Given the description of an element on the screen output the (x, y) to click on. 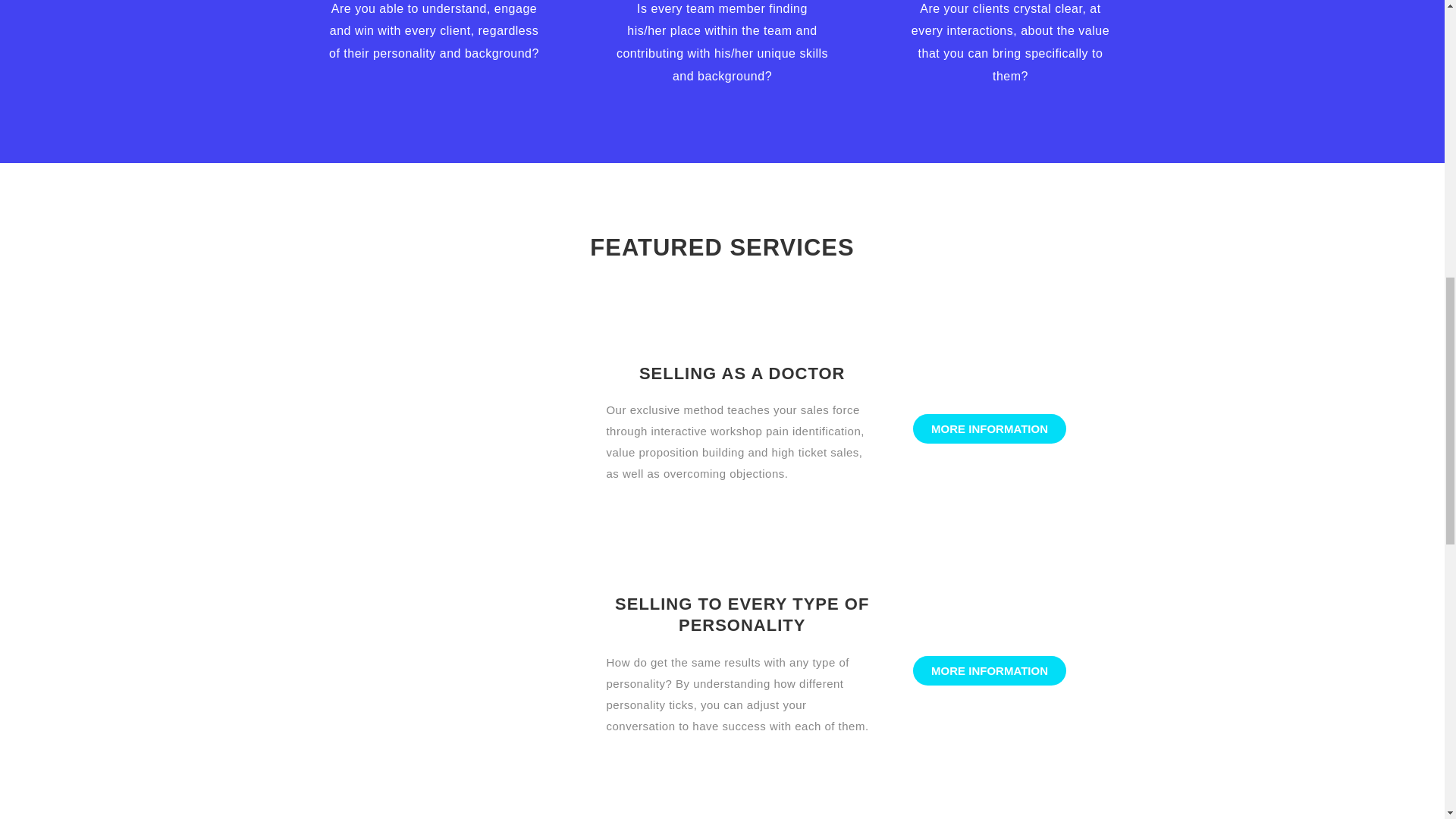
MORE INFORMATION (988, 428)
MORE INFORMATION (988, 670)
